Given the description of an element on the screen output the (x, y) to click on. 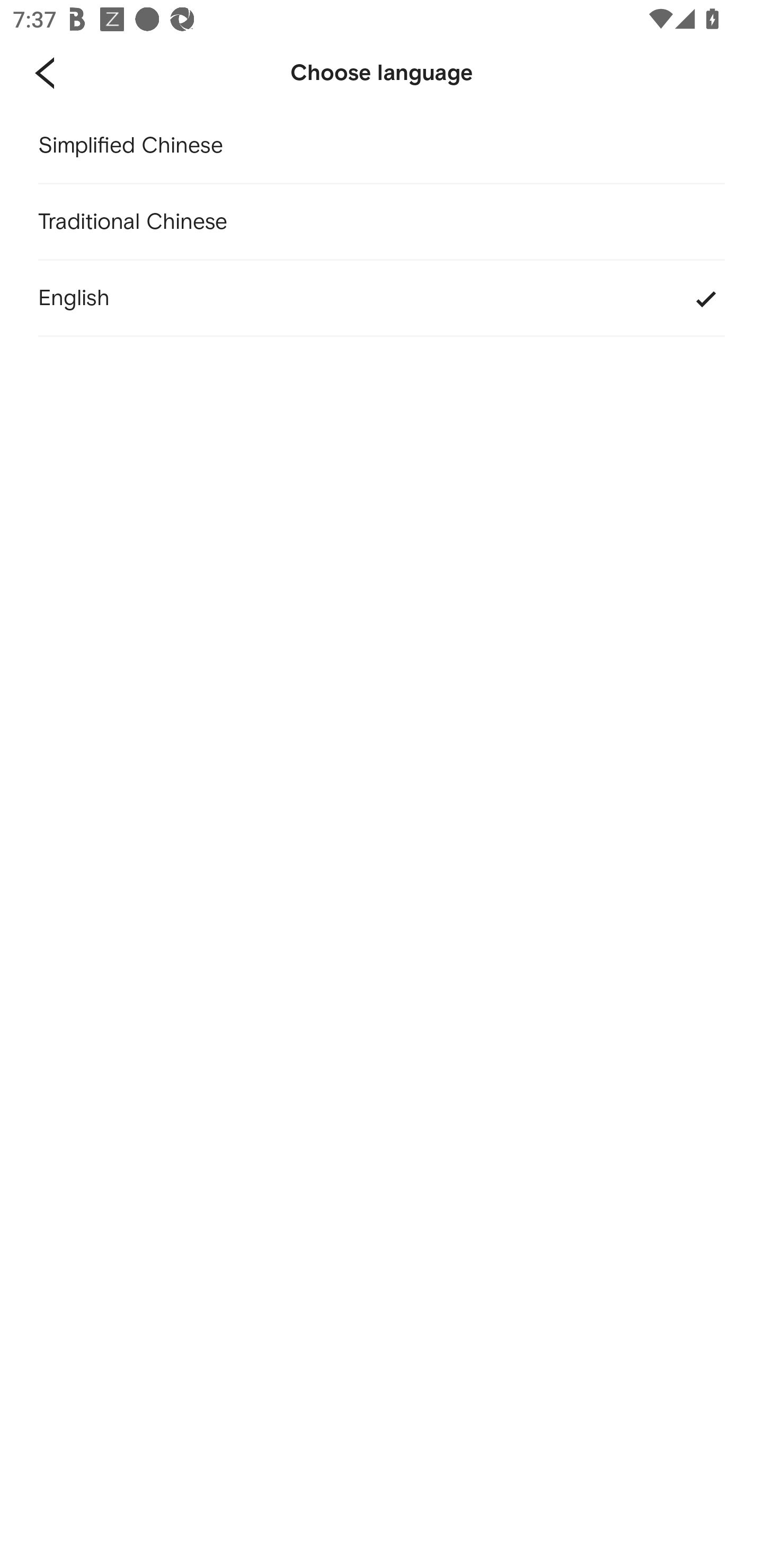
Simplified Chinese (381, 146)
Traditional Chinese (381, 222)
English (381, 298)
